Given the description of an element on the screen output the (x, y) to click on. 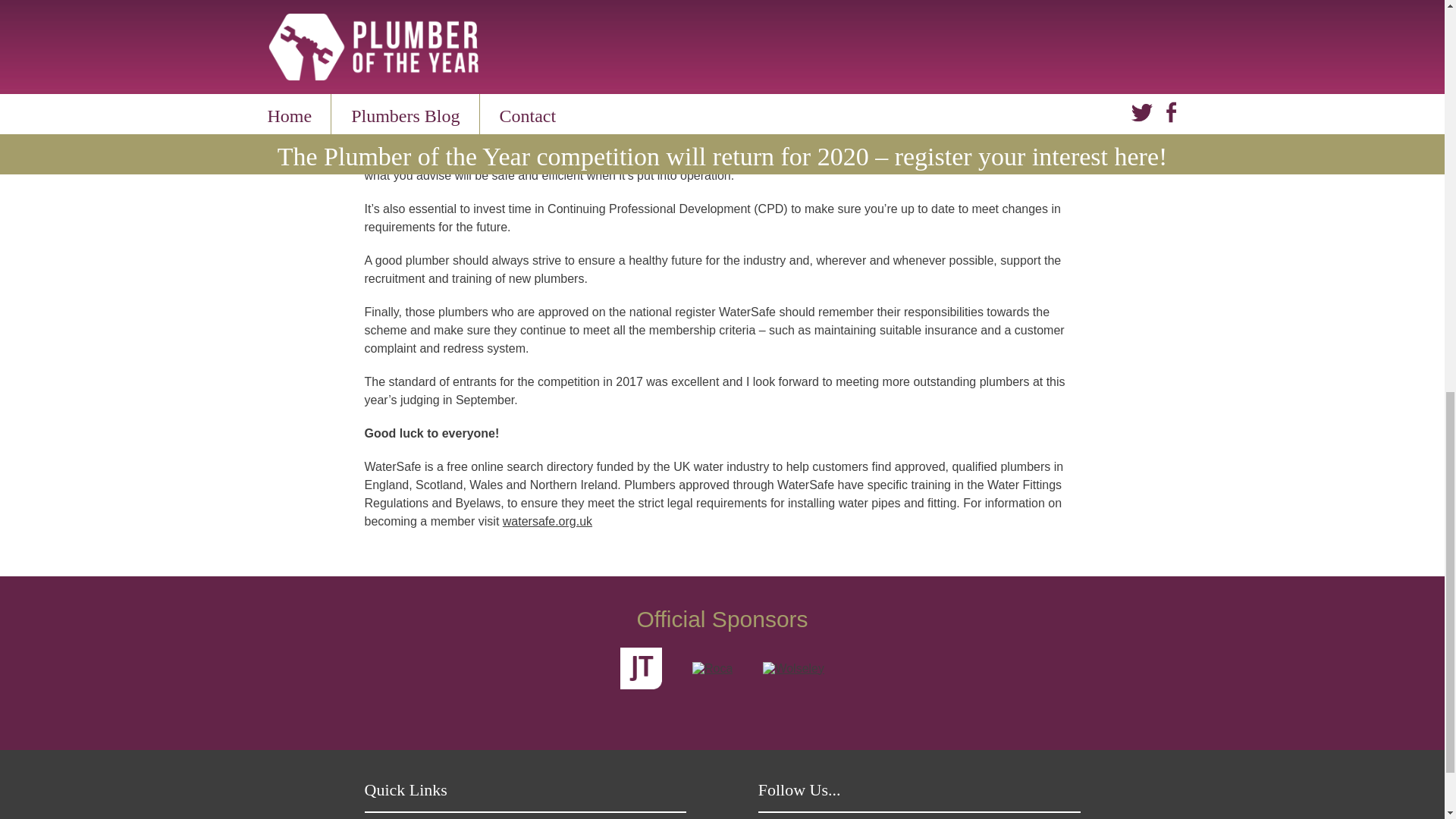
watersafe.org.uk (547, 521)
